Given the description of an element on the screen output the (x, y) to click on. 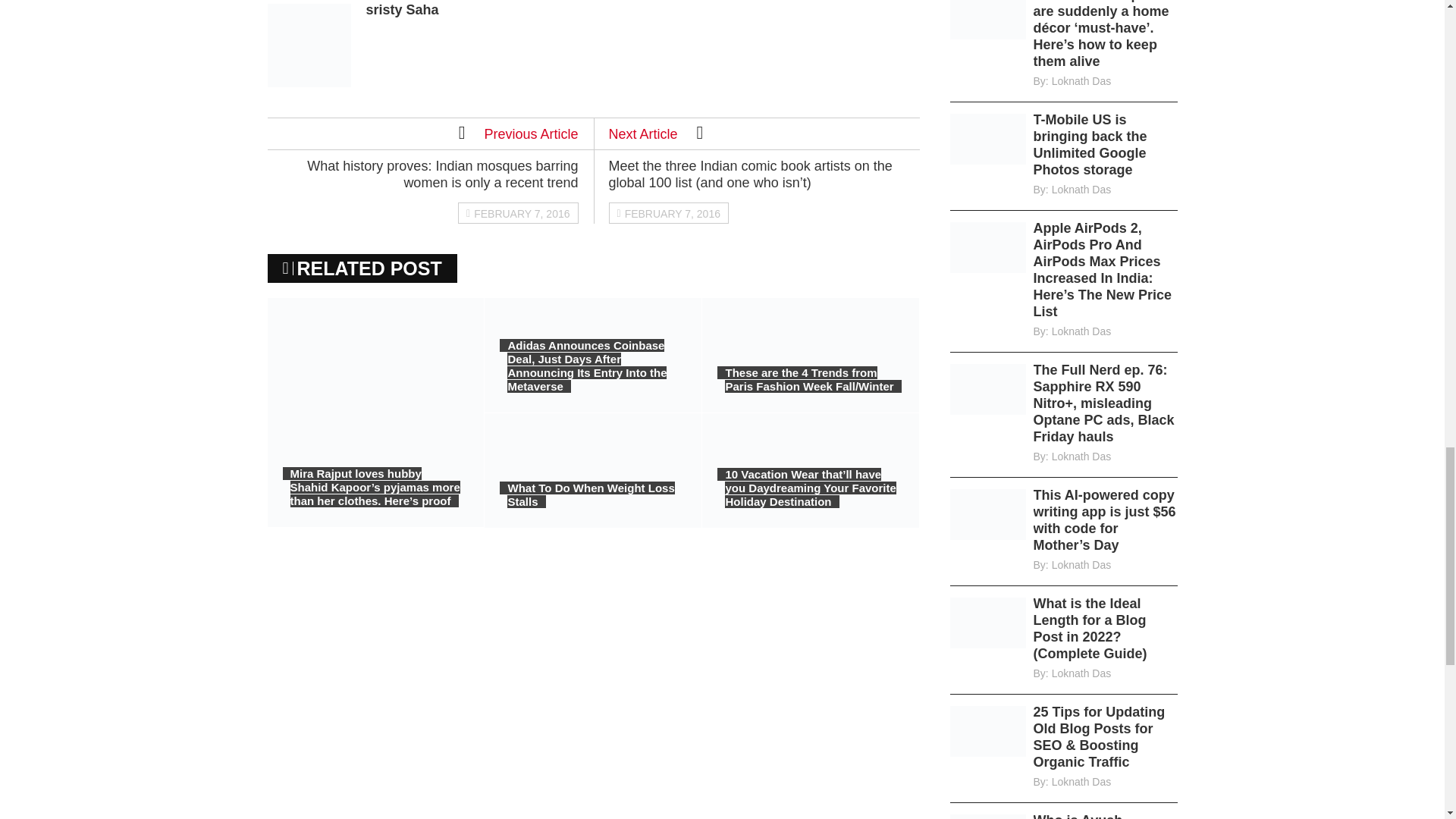
Posts by sristy Saha (401, 9)
Next Article (655, 132)
sristy Saha (401, 9)
Previous Article (518, 132)
